Given the description of an element on the screen output the (x, y) to click on. 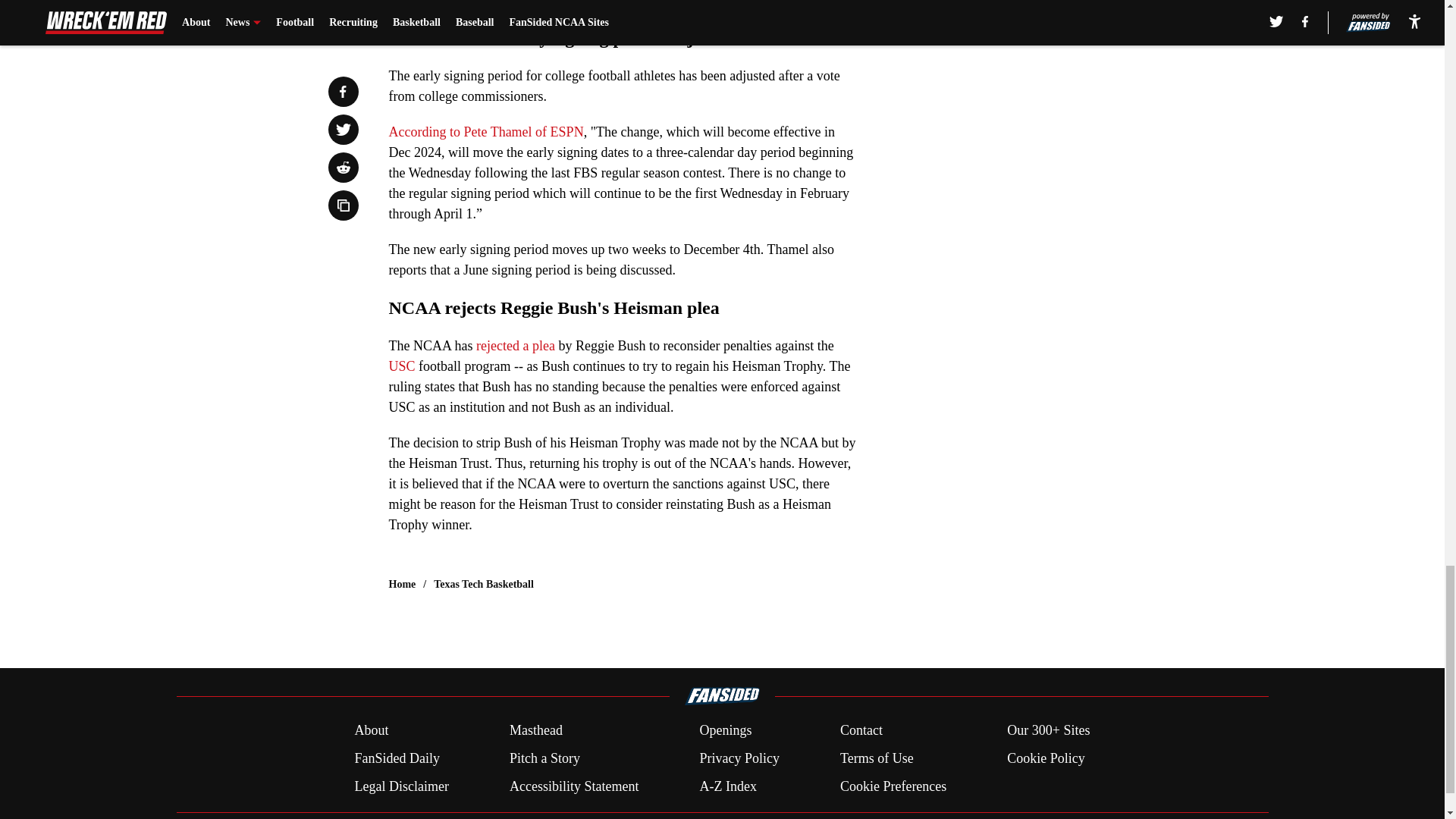
USC (401, 365)
Openings (724, 730)
FanSided Daily (396, 758)
Masthead (535, 730)
About (370, 730)
rejected a plea (515, 345)
Texas Tech Basketball (483, 584)
Home (401, 584)
Pitch a Story (544, 758)
Contact (861, 730)
According to Pete Thamel of ESPN (485, 131)
